Given the description of an element on the screen output the (x, y) to click on. 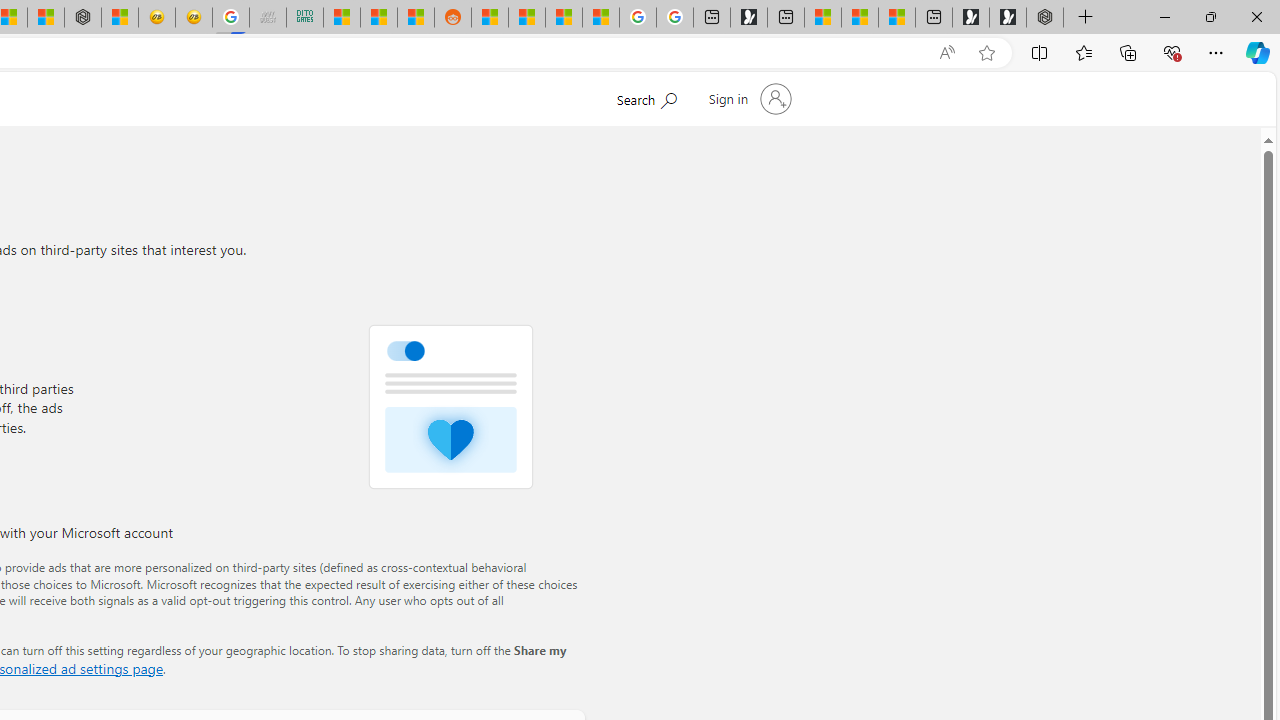
Nordace - Nordace Siena Is Not An Ordinary Backpack (1044, 17)
MSN (415, 17)
